Given the description of an element on the screen output the (x, y) to click on. 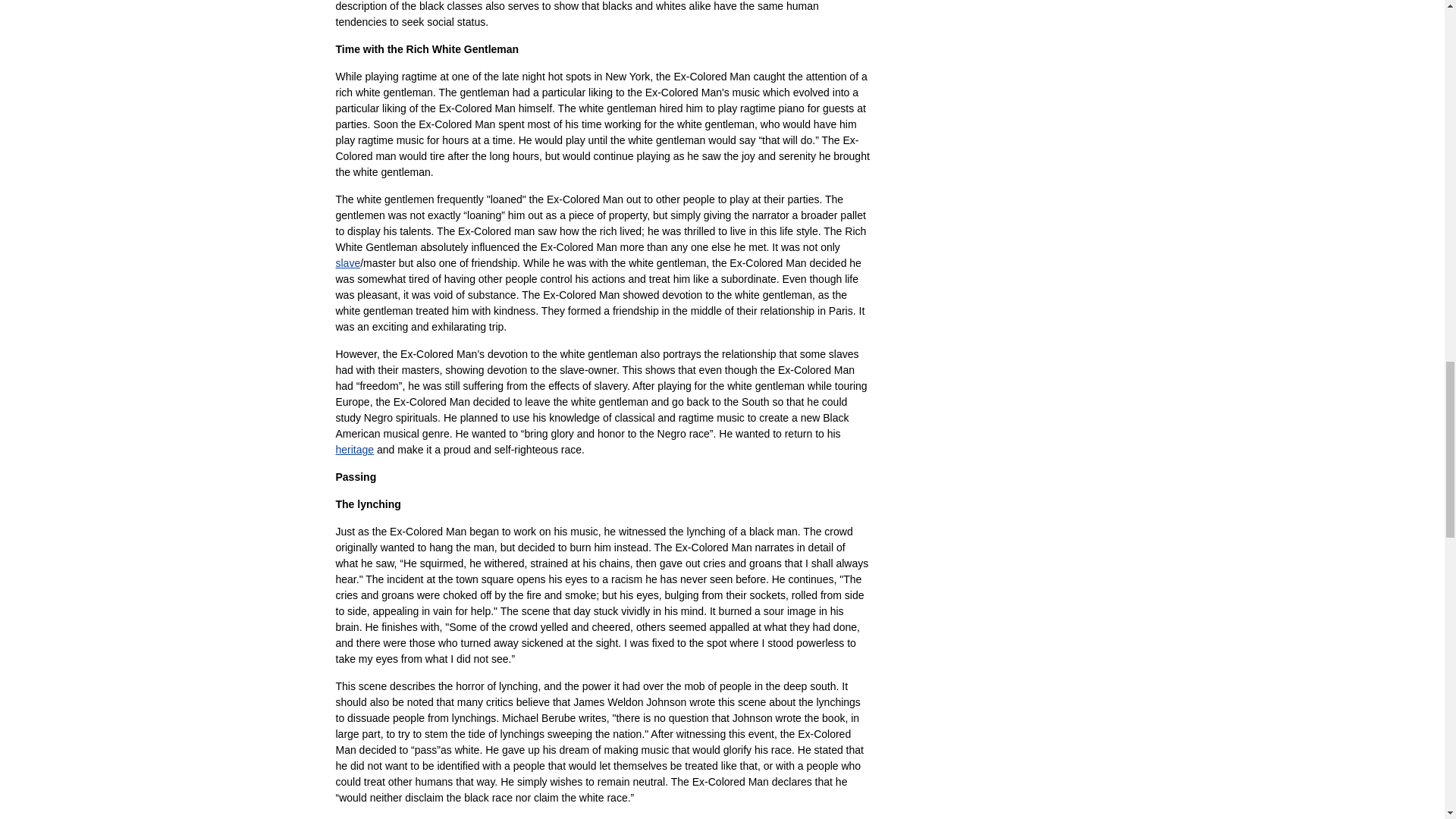
heritage (354, 449)
slave (346, 263)
